Given the description of an element on the screen output the (x, y) to click on. 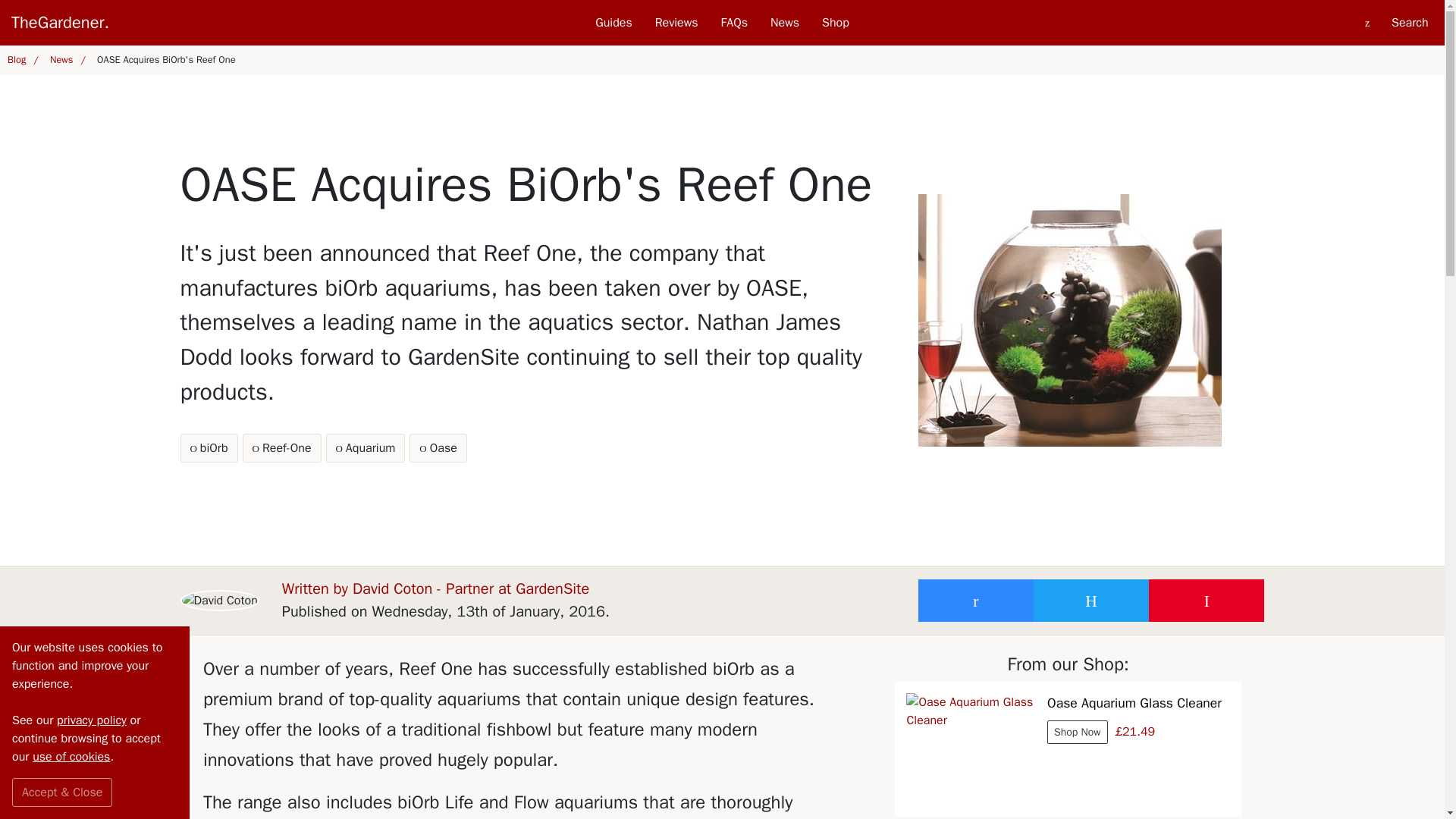
Aquarium (366, 448)
Shop (835, 22)
News (65, 60)
FAQs (534, 448)
Guides (734, 22)
Reviews (613, 22)
Oase (676, 22)
Reef-One (437, 448)
Blog (282, 448)
